Given the description of an element on the screen output the (x, y) to click on. 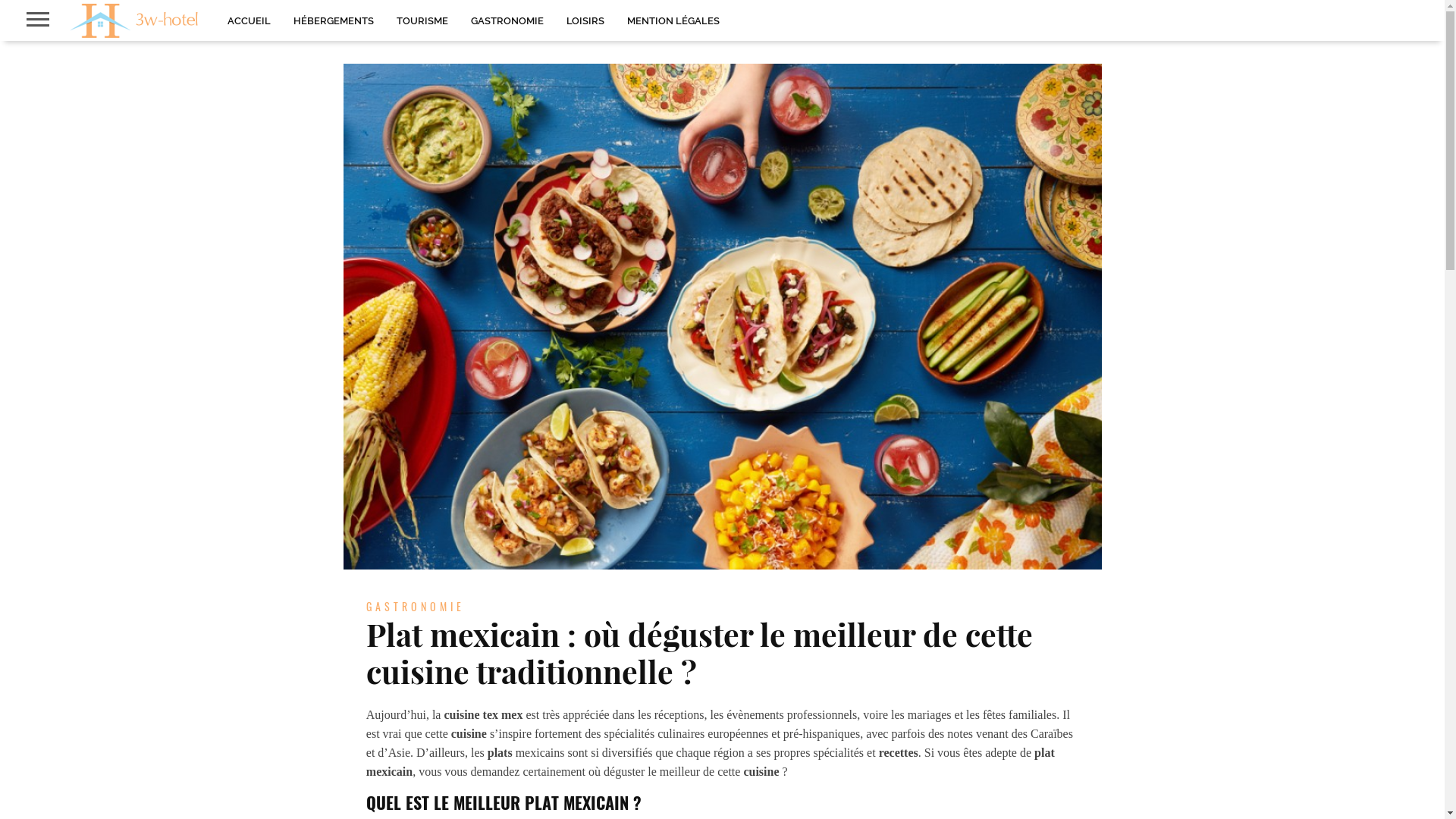
TOURISME Element type: text (422, 20)
GASTRONOMIE Element type: text (507, 20)
ACCUEIL Element type: text (249, 20)
LOISIRS Element type: text (585, 20)
